Given the description of an element on the screen output the (x, y) to click on. 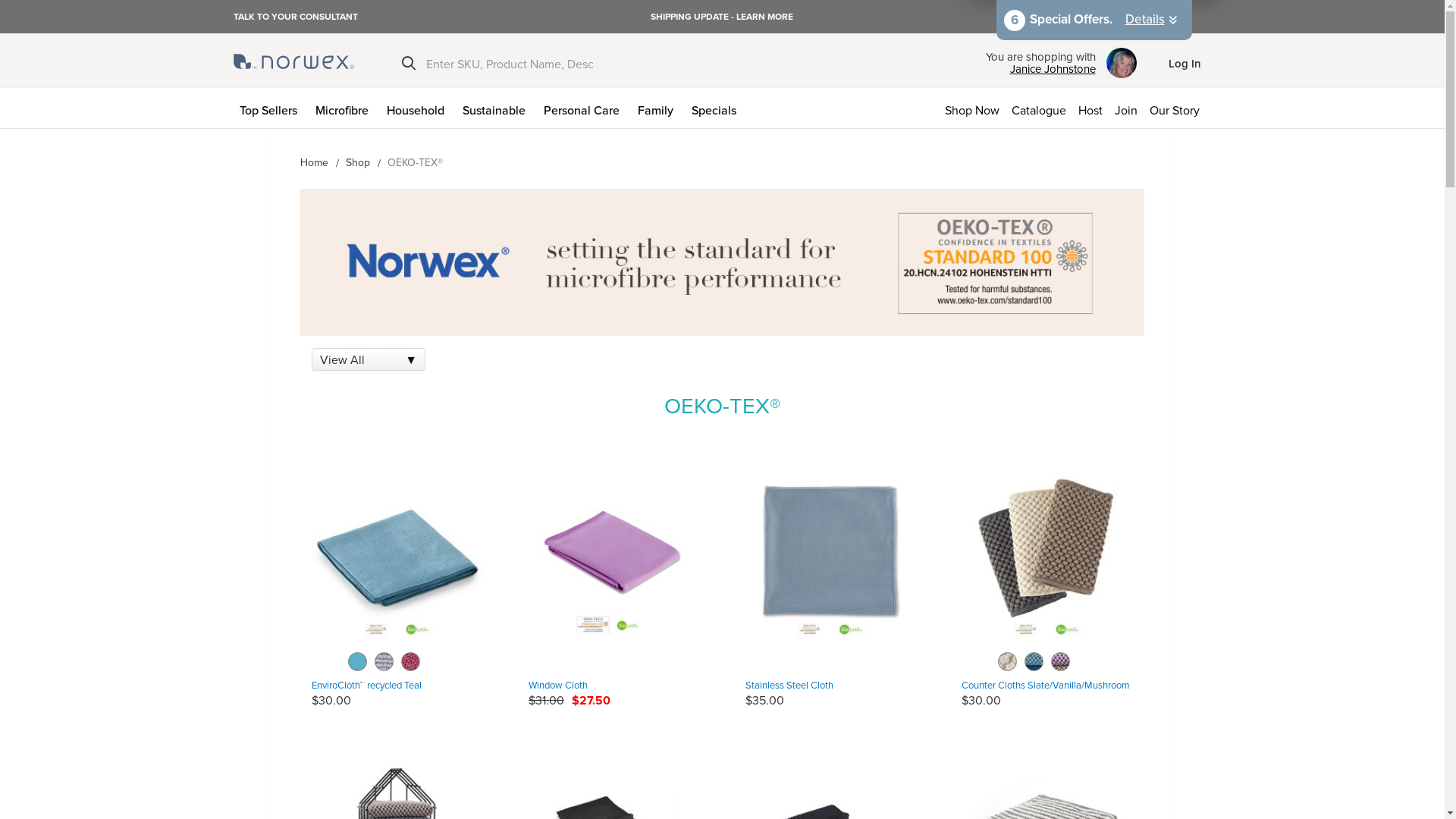
Specials Element type: text (716, 107)
Top Sellers Element type: text (271, 107)
Home Element type: text (314, 162)
Stainless Steel Cloth Element type: text (788, 684)
Shop Element type: text (357, 162)
Microfibre Element type: text (344, 107)
SHIPPING UPDATE - LEARN MORE Element type: text (721, 16)
Family Element type: text (657, 107)
Shop Now Element type: text (971, 107)
Household Element type: text (418, 107)
Counter Cloths Slate/Vanilla/Mushroom Element type: text (1045, 684)
Janice Johnstone Element type: text (1040, 68)
Join Element type: text (1125, 107)
Window Cloth Element type: hover (613, 560)
Stainless Steel Cloth Element type: hover (830, 560)
Our Story Element type: text (1177, 107)
Window Cloth Element type: text (557, 684)
Personal Care Element type: text (583, 107)
Catalogue Element type: text (1038, 107)
Host Element type: text (1090, 107)
Counter Cloths Element type: hover (1046, 560)
Sustainable Element type: text (496, 107)
